Given the description of an element on the screen output the (x, y) to click on. 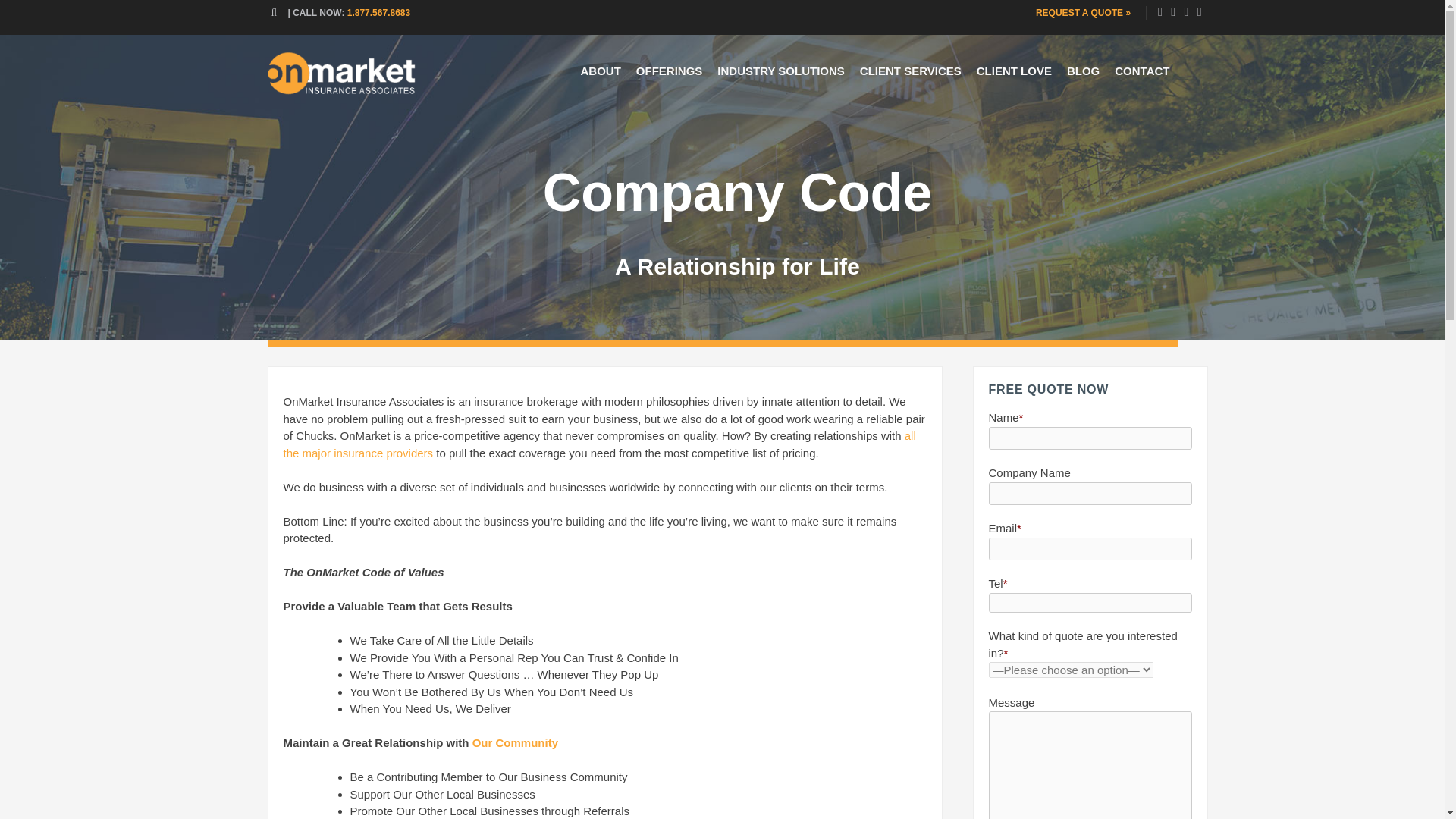
CLIENT LOVE (1014, 71)
CLIENT SERVICES (910, 71)
ABOUT (599, 71)
OnMarket Insurance Associates (340, 91)
1.877.567.8683 (378, 12)
INDUSTRY SOLUTIONS (780, 71)
OFFERINGS (669, 71)
CONTACT (1141, 71)
BLOG (1082, 71)
